Given the description of an element on the screen output the (x, y) to click on. 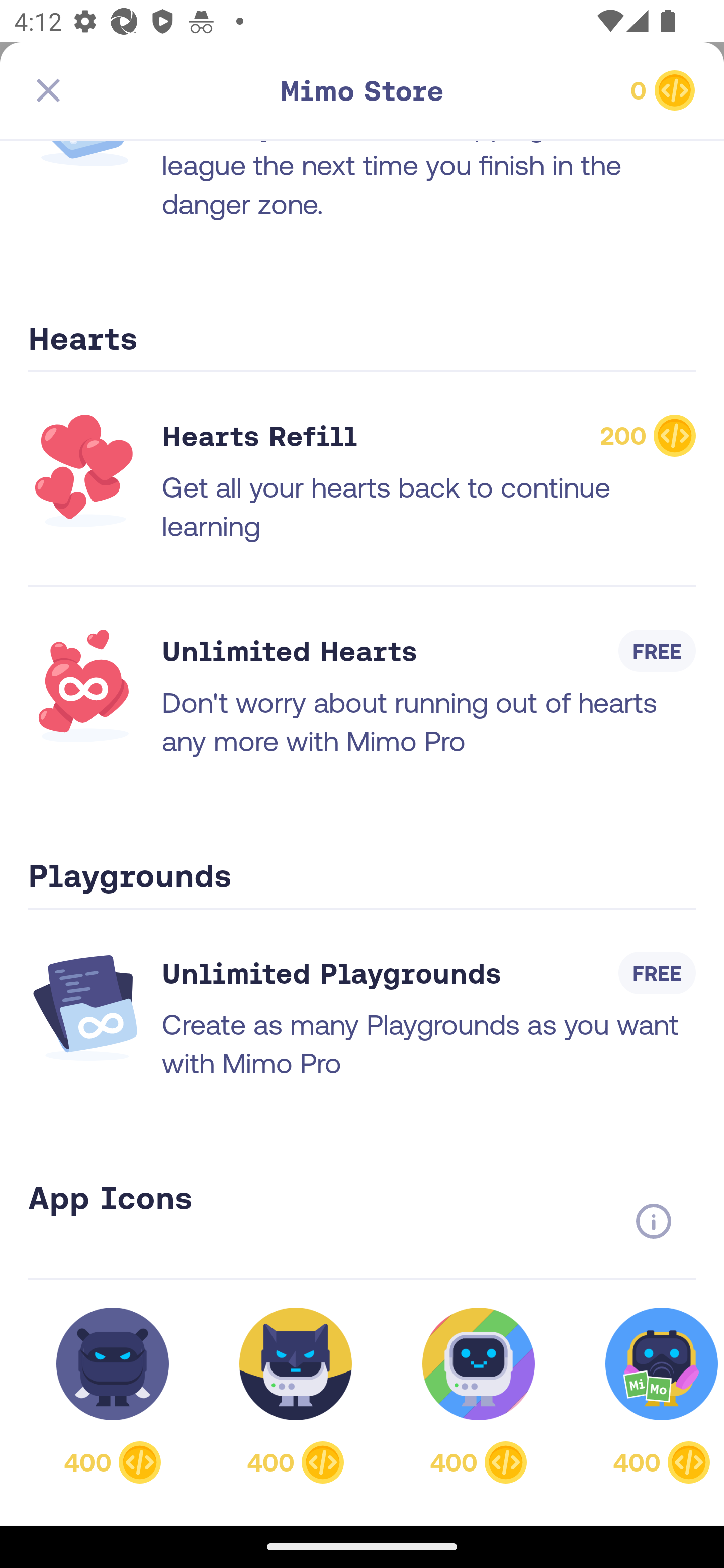
Path Toolbar Image 4 (134, 90)
Path Toolbar Image 0 (361, 90)
Path Toolbar Image 0 (588, 90)
Info (653, 1221)
Store App Icon 400 Store Coins Icon (112, 1395)
Store App Icon 400 Store Coins Icon (295, 1395)
Store App Icon 400 Store Coins Icon (478, 1395)
Store App Icon 400 Store Coins Icon (650, 1395)
